Given the description of an element on the screen output the (x, y) to click on. 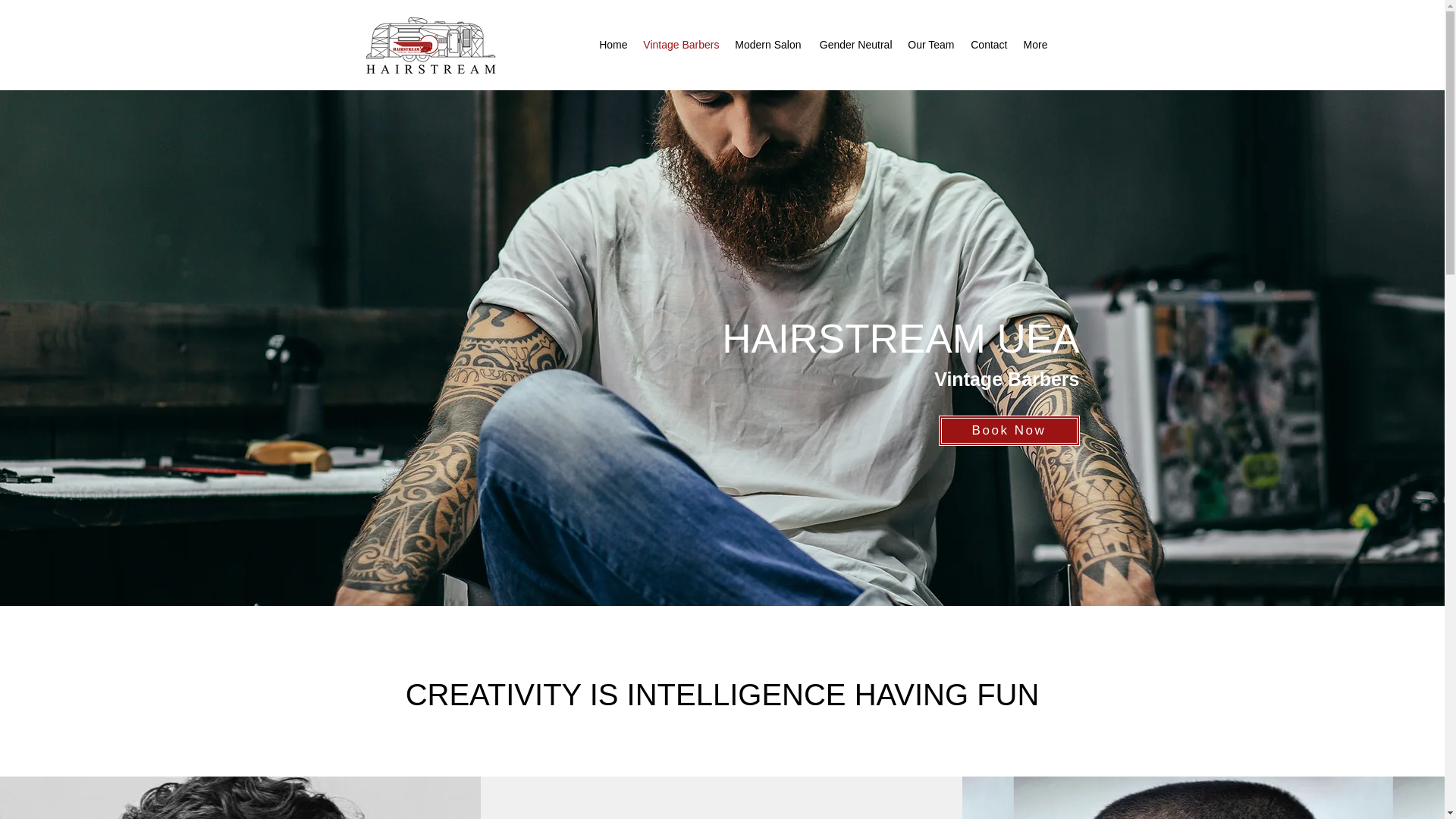
Contact (987, 44)
Gender Neutral (853, 44)
Book Now (1009, 430)
Vintage Barbers (680, 44)
Modern Salon (767, 44)
Our Team (929, 44)
